Given the description of an element on the screen output the (x, y) to click on. 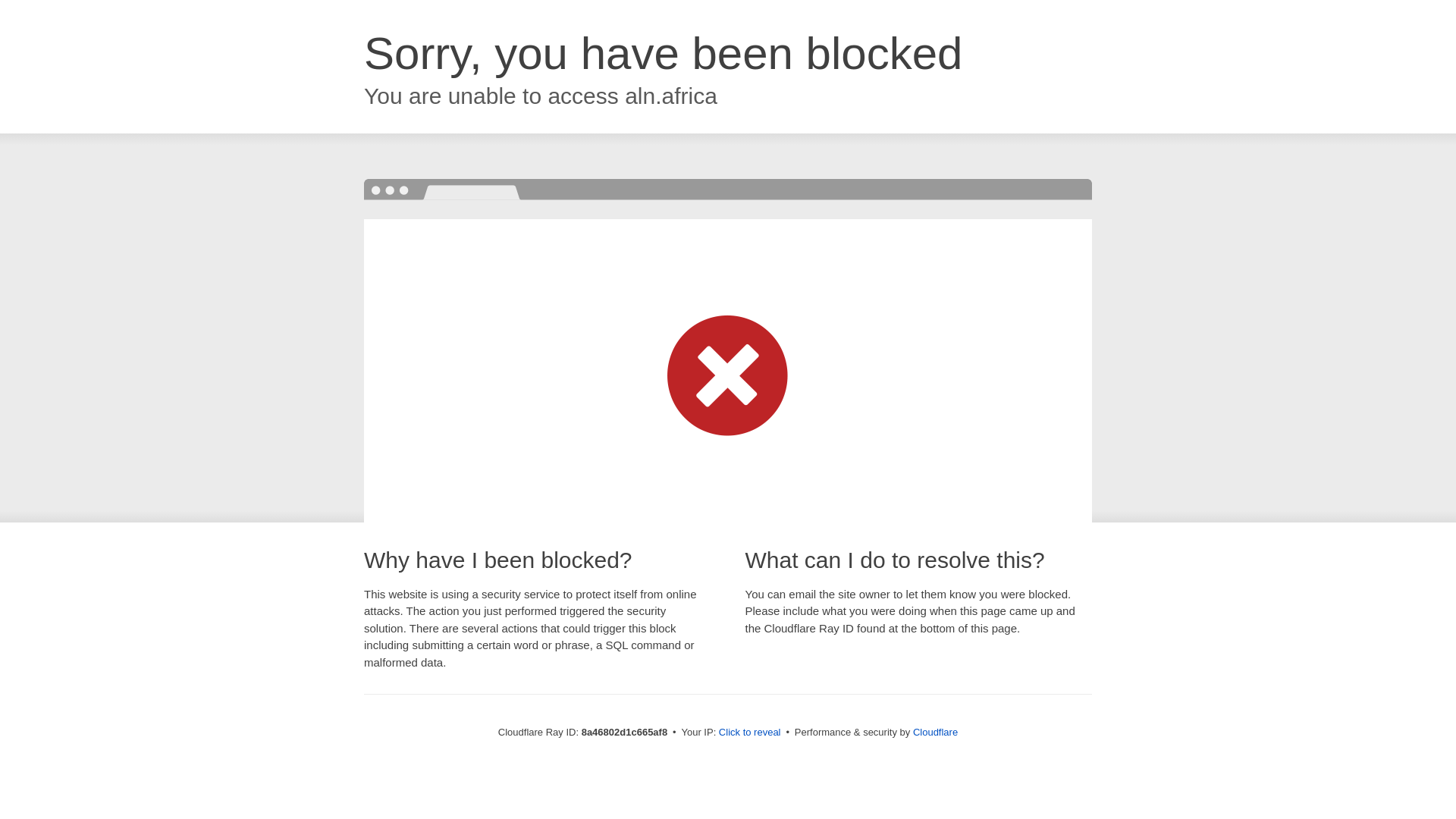
Click to reveal (749, 732)
Cloudflare (935, 731)
